Given the description of an element on the screen output the (x, y) to click on. 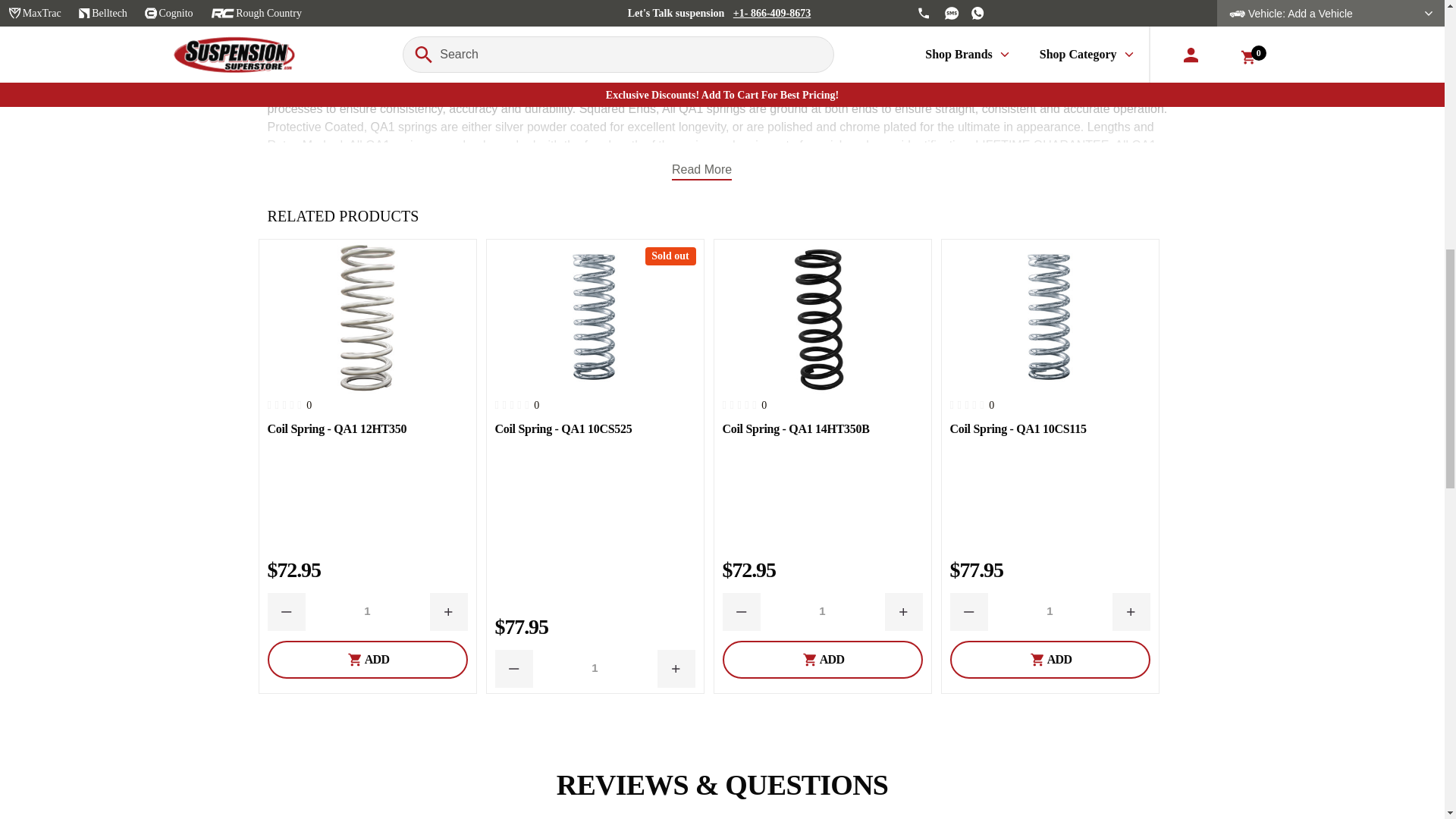
1 (366, 610)
1 (1049, 610)
1 (594, 668)
1 (822, 610)
